Given the description of an element on the screen output the (x, y) to click on. 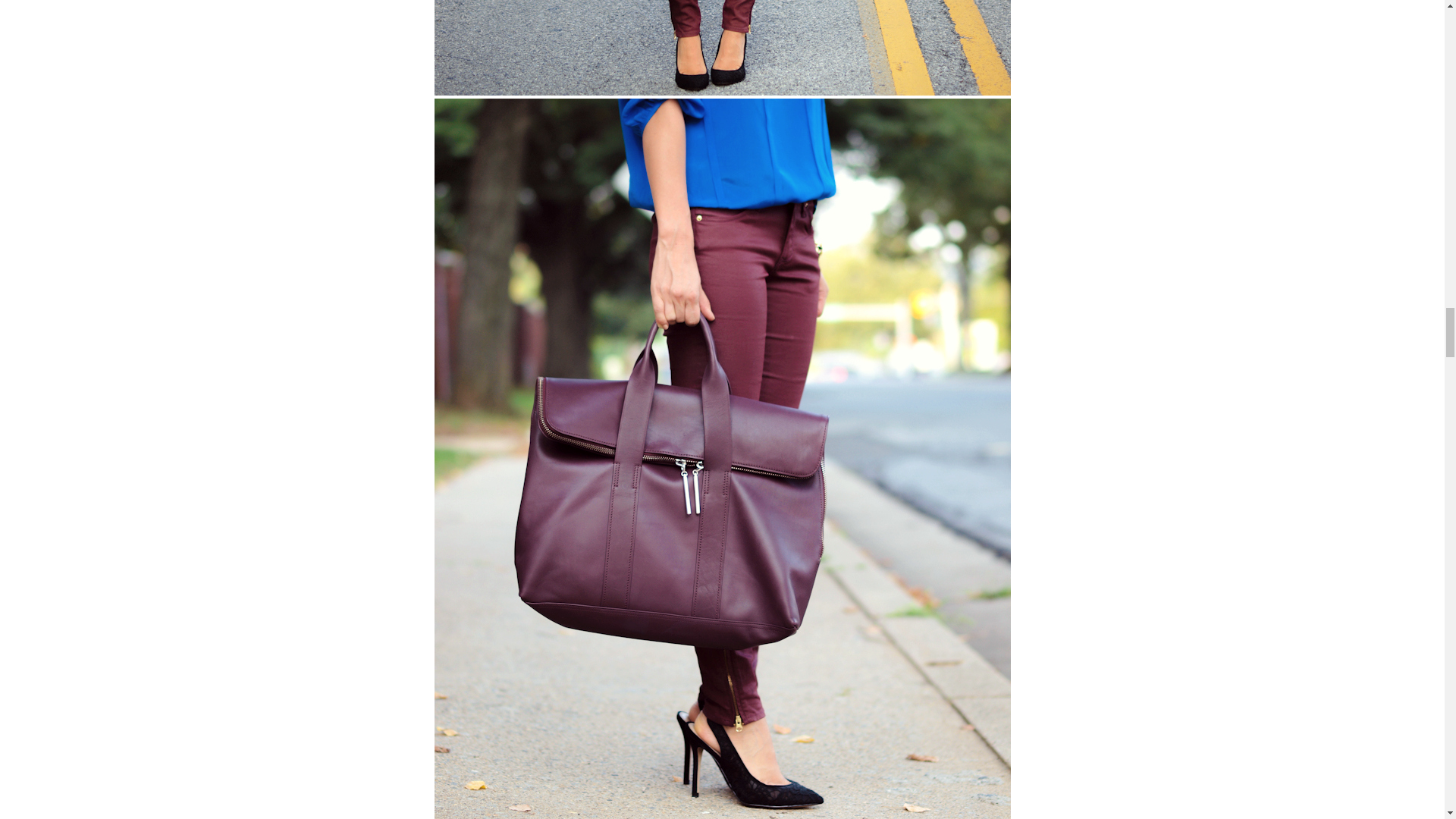
Glimpses of Fall Colors (721, 47)
